Given the description of an element on the screen output the (x, y) to click on. 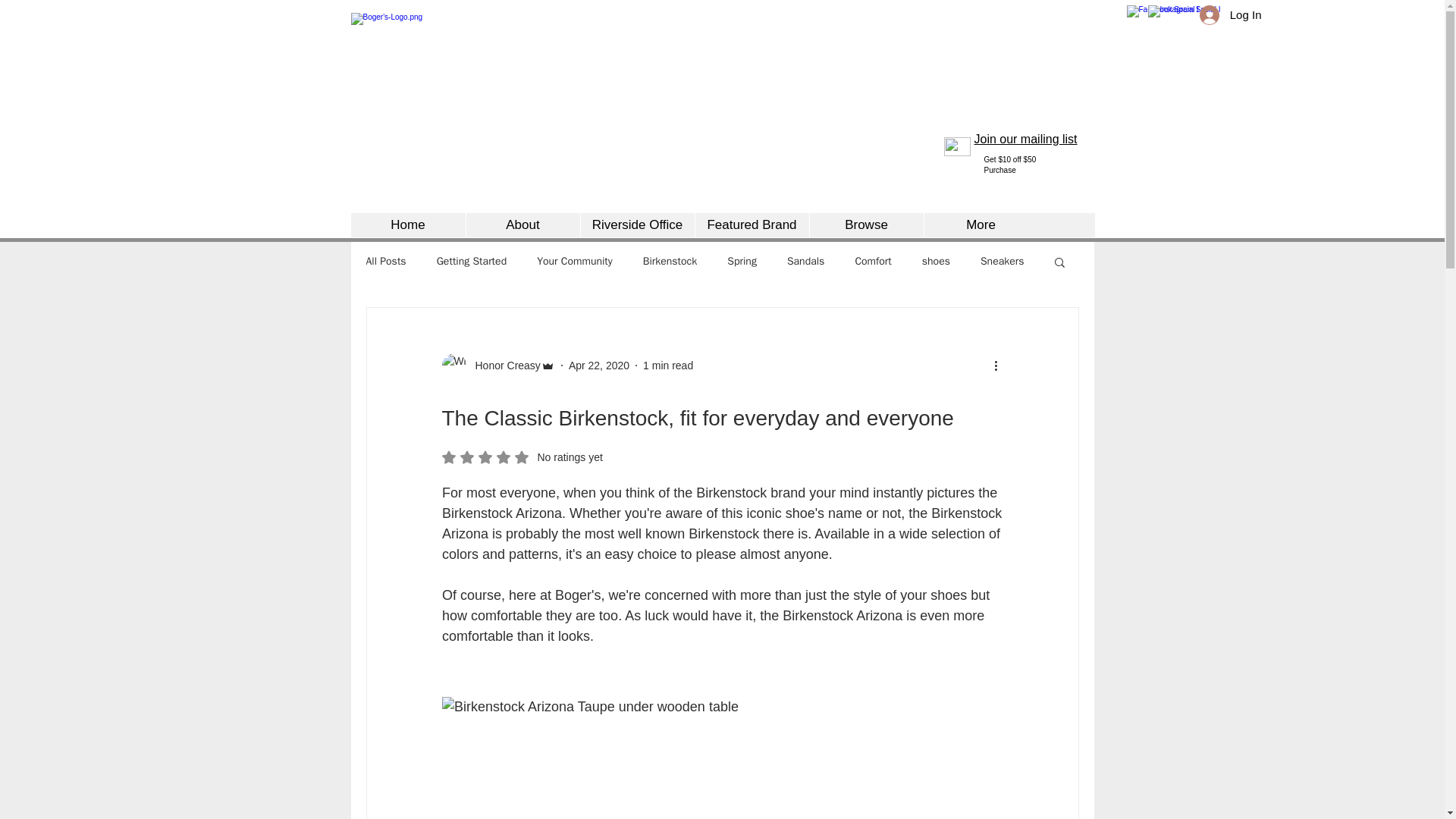
Apr 22, 2020 (598, 365)
Your Community (574, 261)
Home (407, 224)
Riverside Office (636, 224)
shoes (935, 261)
Sneakers (1002, 261)
Sandals (805, 261)
Browse (865, 224)
Log In (1230, 14)
Honor Creasy (502, 365)
